Given the description of an element on the screen output the (x, y) to click on. 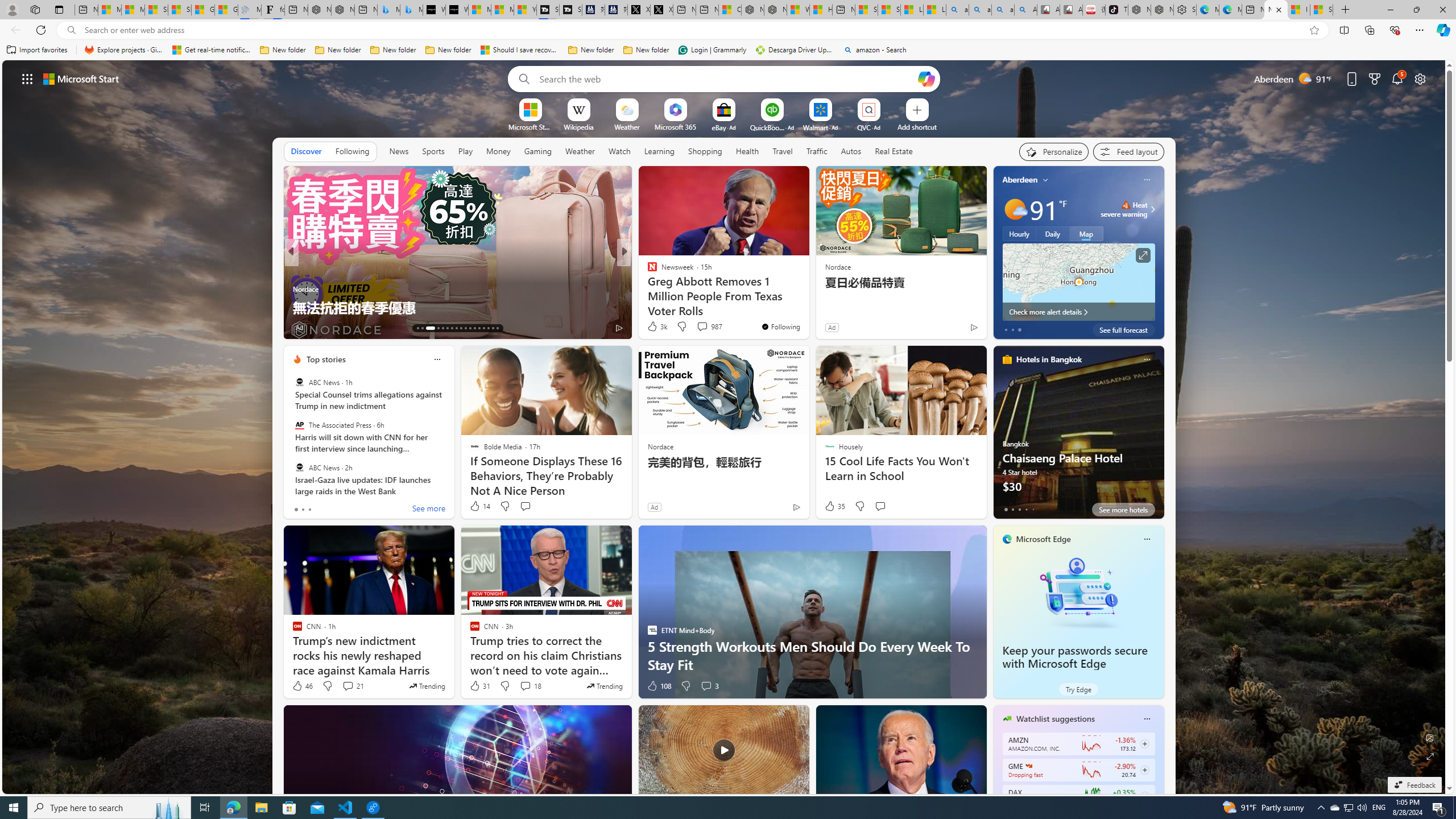
Personalize your feed" (1054, 151)
Real Estate (893, 151)
The Associated Press (299, 424)
View comments 2 Comment (702, 327)
Hourly (1018, 233)
New folder (646, 49)
